Given the description of an element on the screen output the (x, y) to click on. 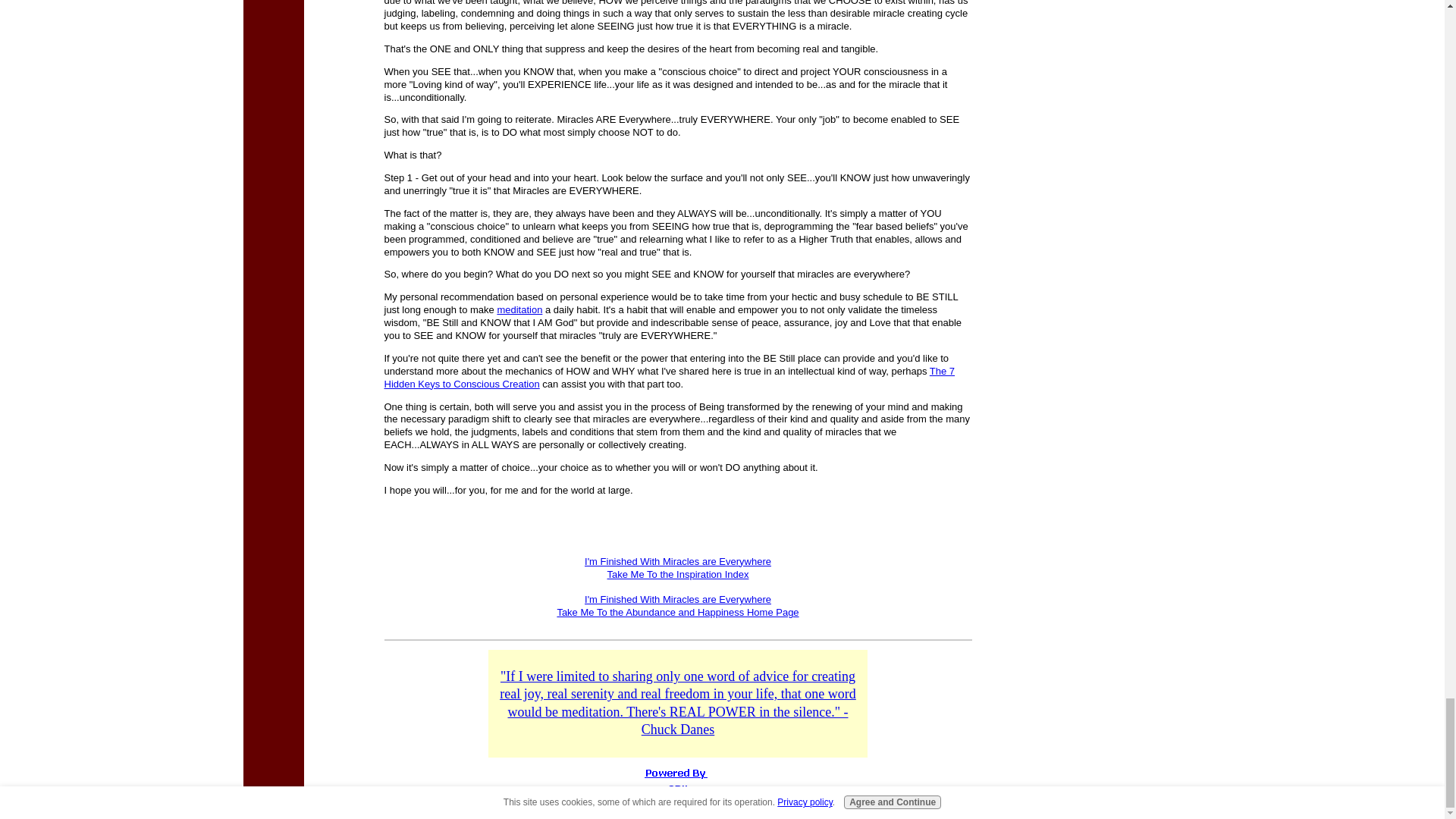
meditation (518, 309)
The 7 Hidden Keys to Conscious Creation (669, 377)
